Given the description of an element on the screen output the (x, y) to click on. 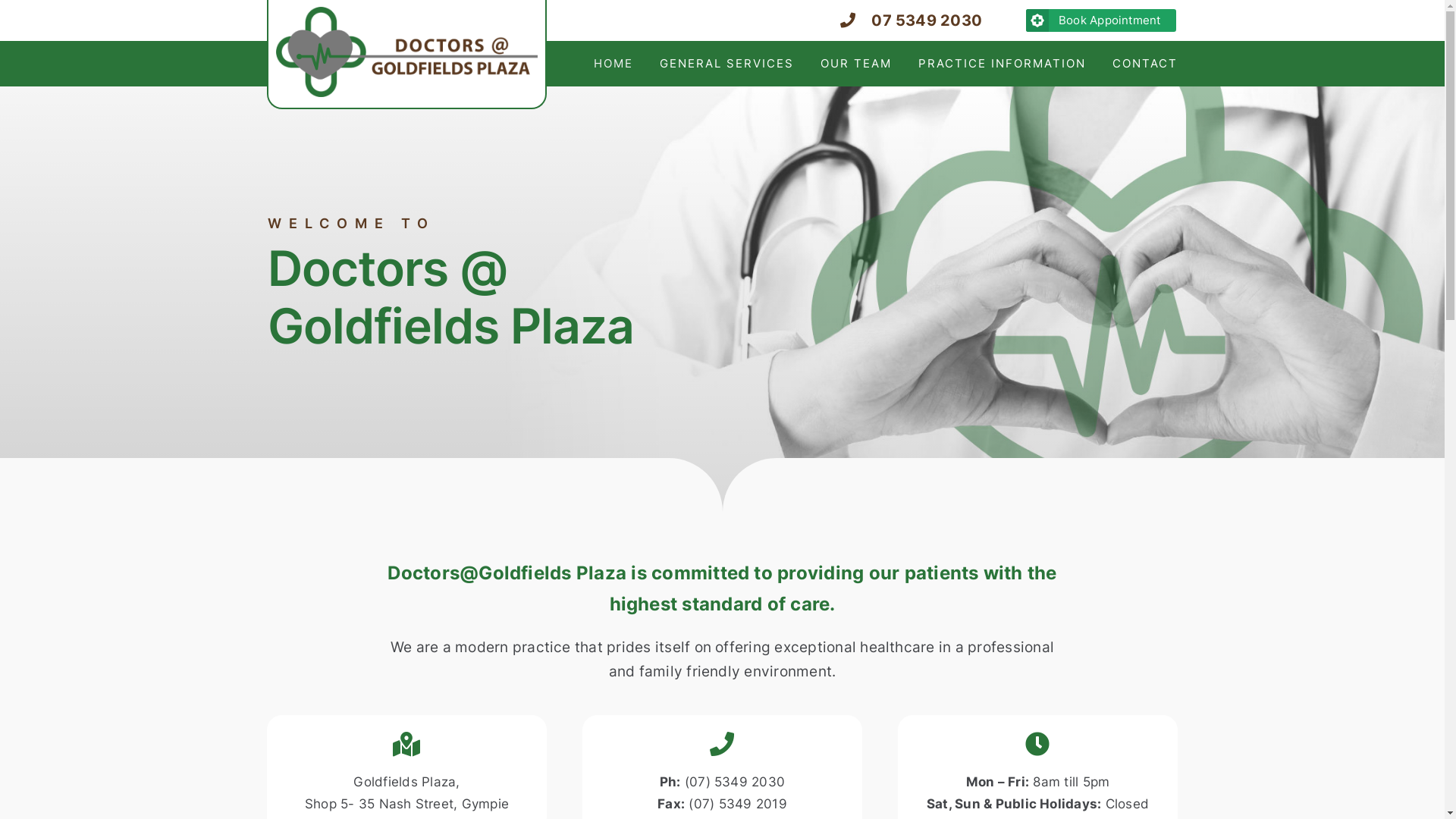
CONTACT Element type: text (1144, 63)
OUR TEAM Element type: text (855, 63)
GENERAL SERVICES Element type: text (726, 63)
Book Appointment Element type: text (1100, 20)
goldfields logo Element type: hover (406, 51)
PRACTICE INFORMATION Element type: text (1001, 63)
HOME Element type: text (613, 63)
